Given the description of an element on the screen output the (x, y) to click on. 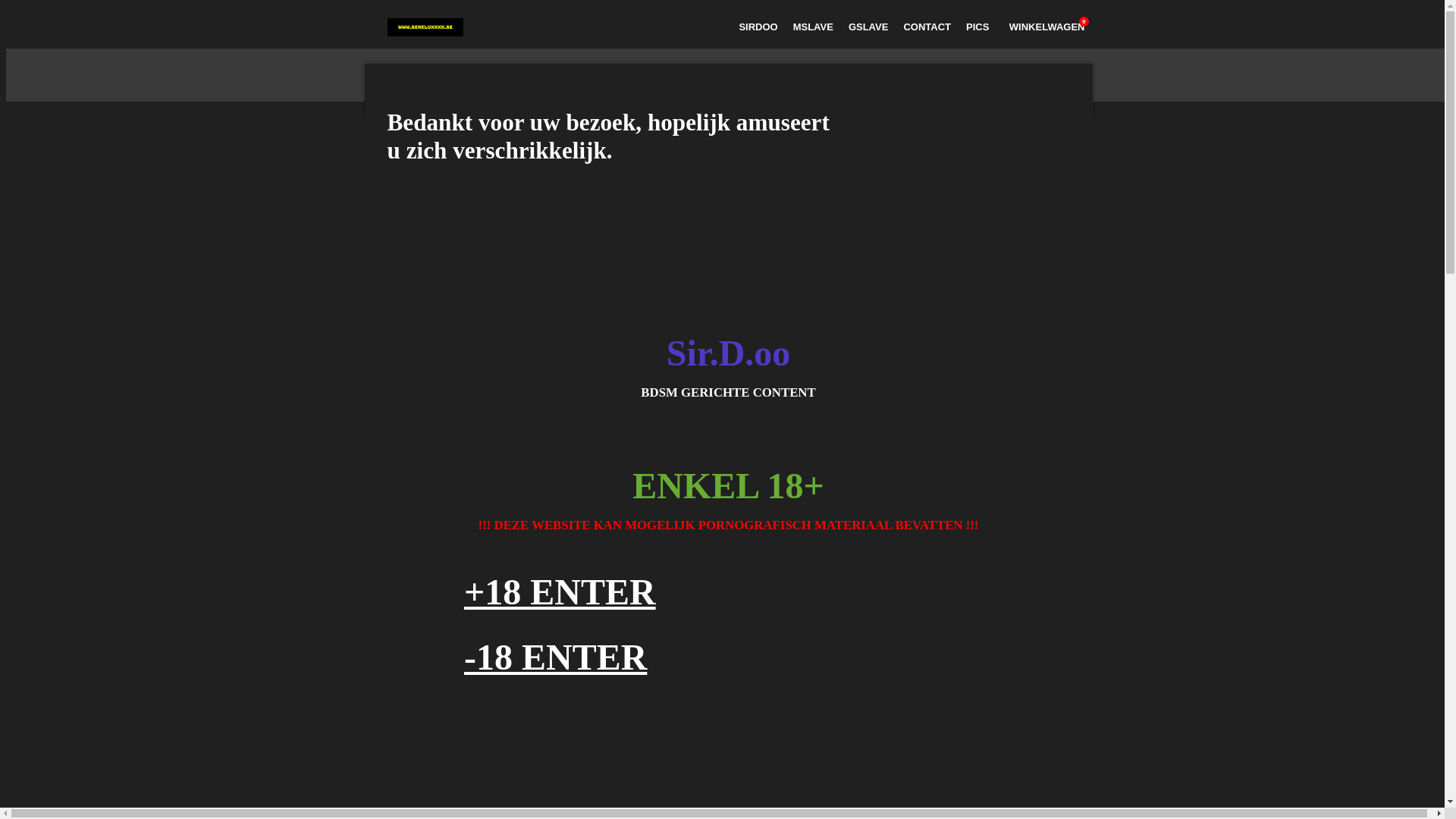
MSLAVE Element type: text (812, 26)
0
WINKELWAGEN Element type: text (1044, 26)
GSLAVE Element type: text (868, 26)
SIRDOO Element type: text (757, 26)
+18 ENTER Element type: text (559, 591)
-18 ENTER Element type: text (555, 657)
PICS Element type: text (977, 26)
beneluxxxx Element type: hover (424, 27)
CONTACT Element type: text (926, 26)
